Given the description of an element on the screen output the (x, y) to click on. 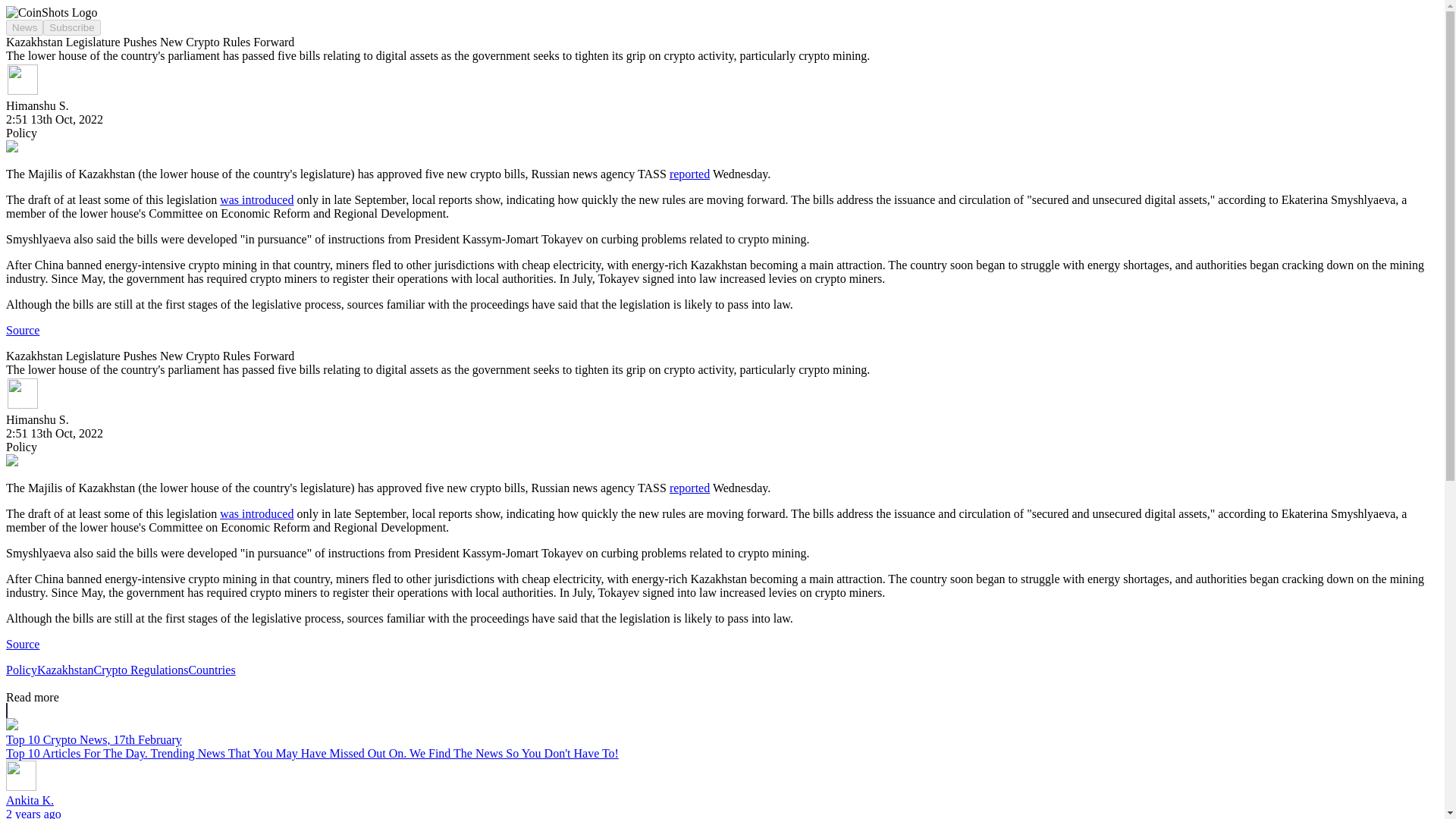
Subscribe (71, 27)
Source (22, 329)
Kazakhstan (65, 669)
Policy (21, 669)
reported (689, 173)
reported (689, 487)
was introduced (256, 199)
was introduced (256, 513)
Source (22, 644)
Countries (210, 669)
